Given the description of an element on the screen output the (x, y) to click on. 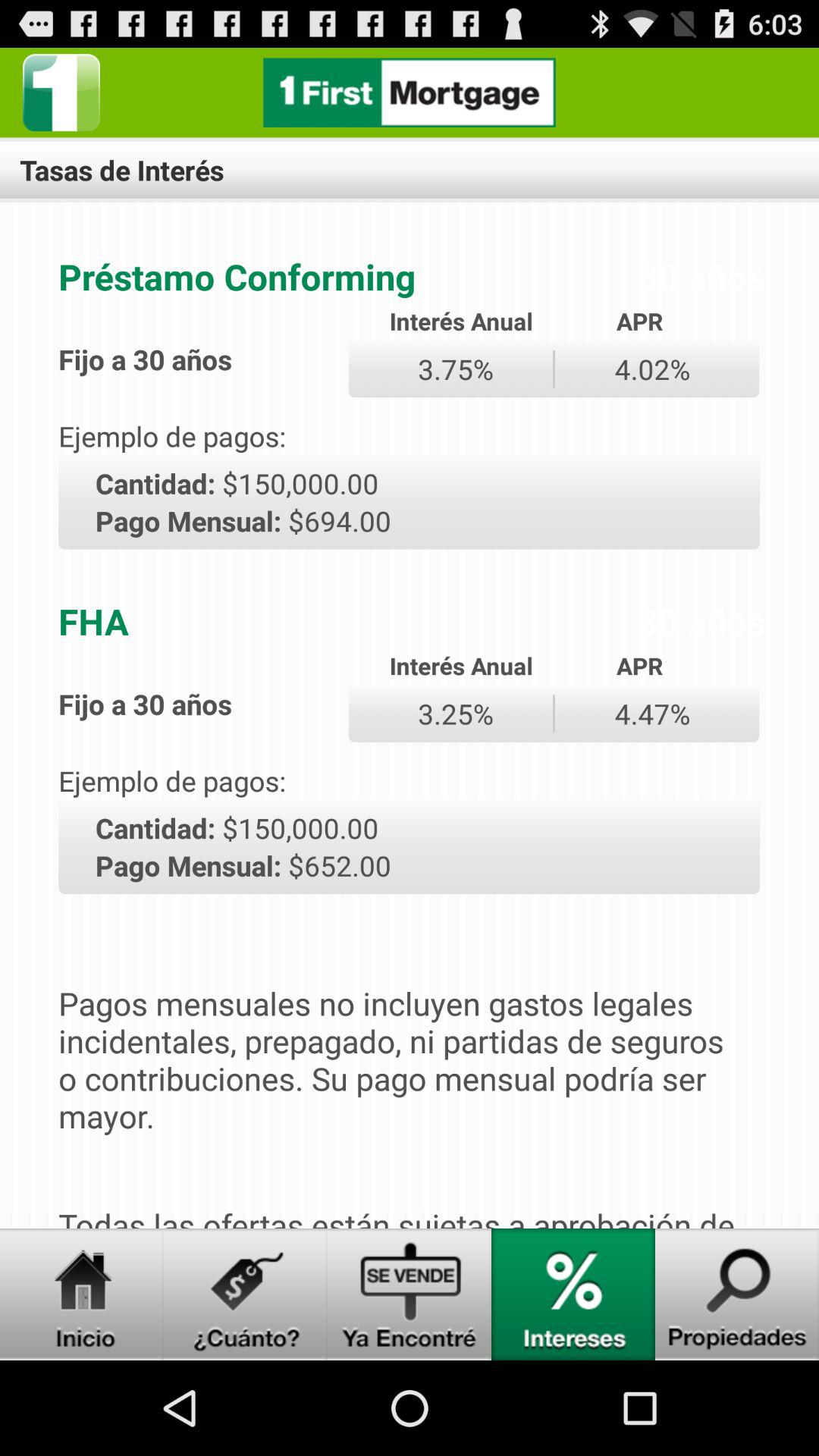
go home (81, 1294)
